Given the description of an element on the screen output the (x, y) to click on. 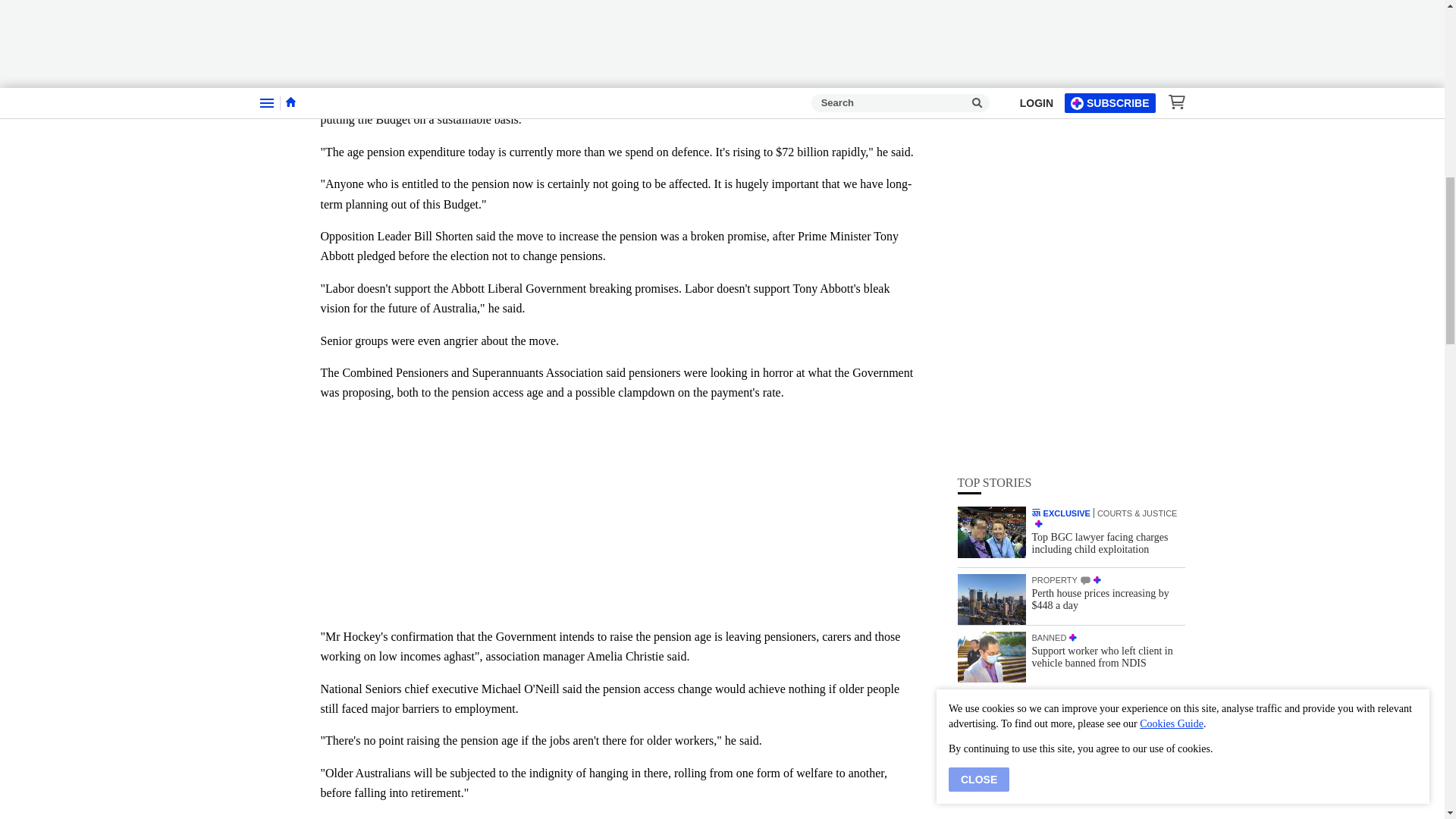
PREMIUM (1072, 235)
PREMIUM (1037, 122)
THE WEST AUSTRALIAN (1035, 111)
PREMIUM (1097, 178)
COMMENTS (1085, 179)
